Given the description of an element on the screen output the (x, y) to click on. 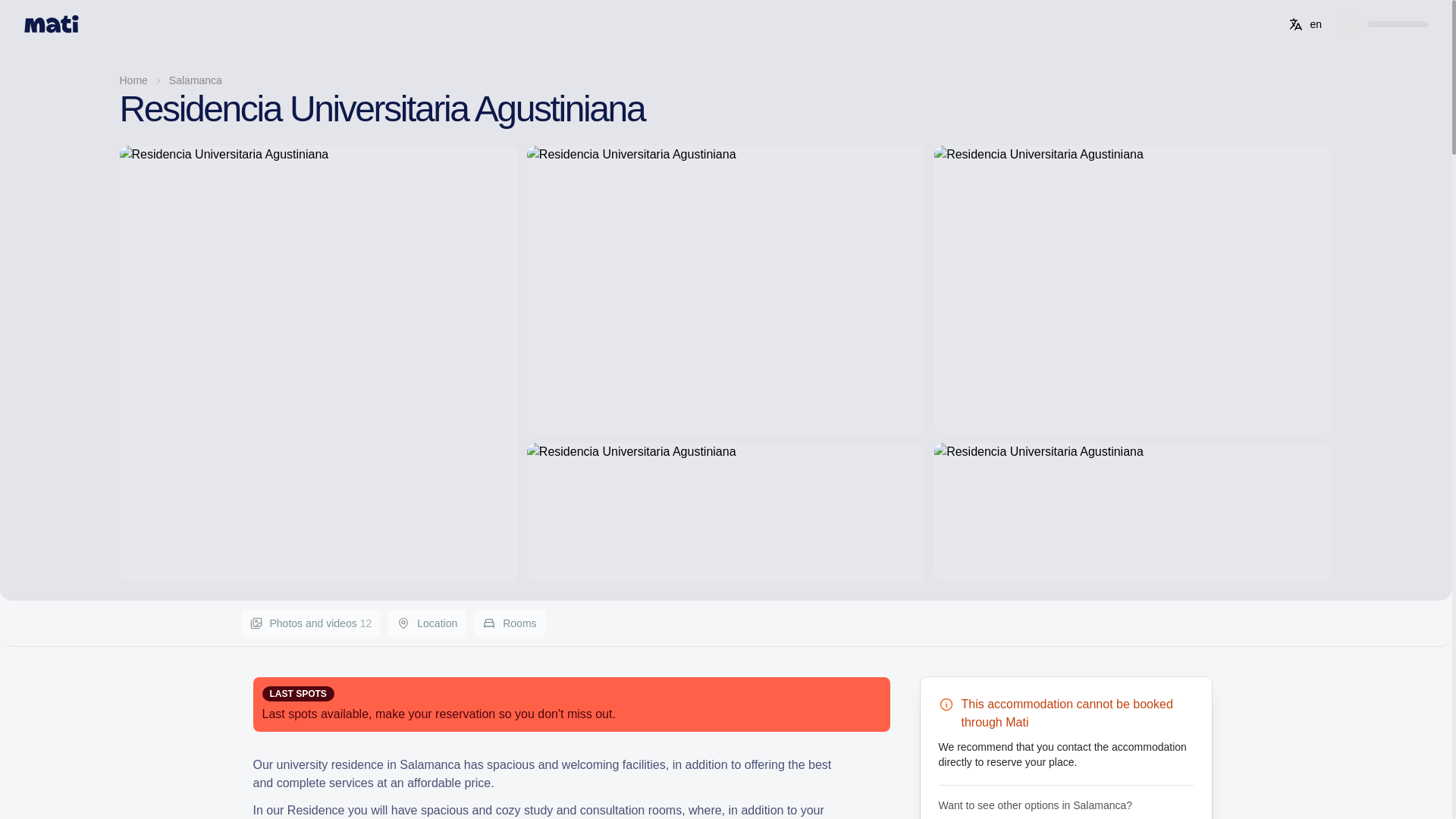
en (311, 623)
Location (1304, 24)
Salamanca (426, 623)
Rooms (195, 80)
Home (509, 623)
